Given the description of an element on the screen output the (x, y) to click on. 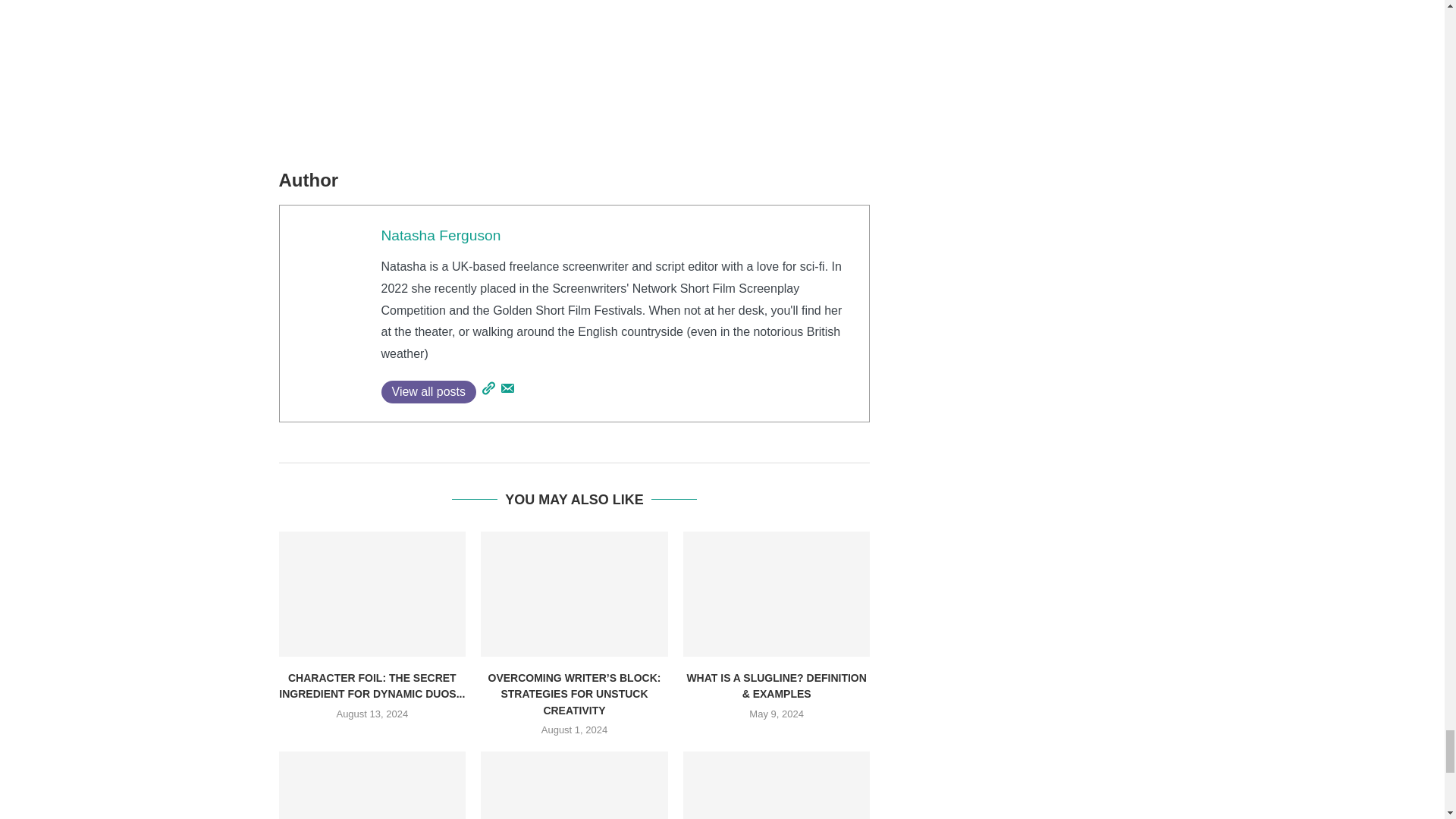
View all posts (428, 391)
Natasha Ferguson (440, 235)
CHARACTER FOIL: THE SECRET INGREDIENT FOR DYNAMIC DUOS... (371, 686)
Natasha Ferguson (440, 235)
View all posts (428, 391)
